Given the description of an element on the screen output the (x, y) to click on. 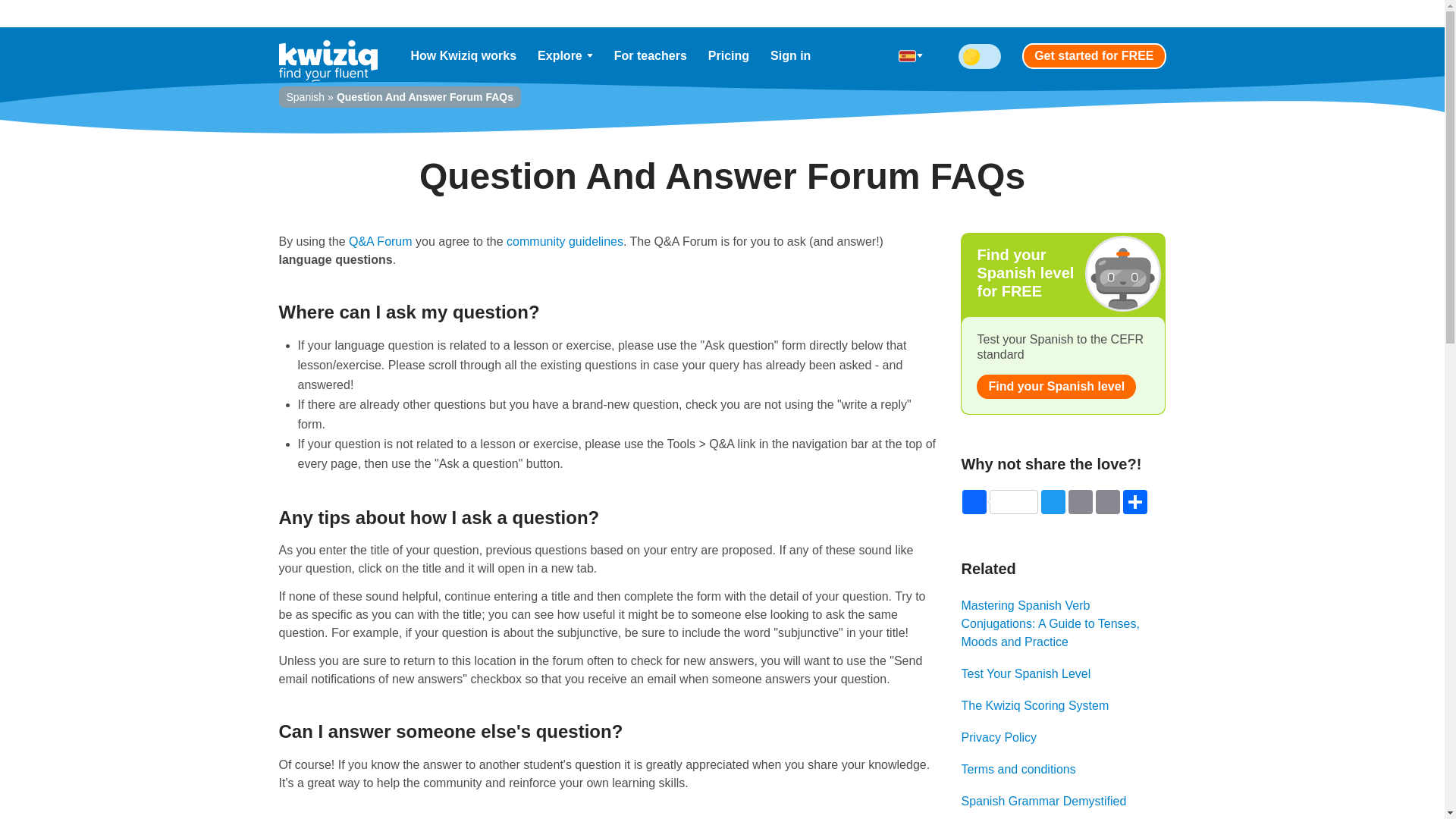
Toggle Dark Mode (979, 56)
How Kwiziq works (463, 56)
Explore (565, 56)
Pricing (728, 56)
For teachers (650, 56)
Sign in (790, 56)
